Given the description of an element on the screen output the (x, y) to click on. 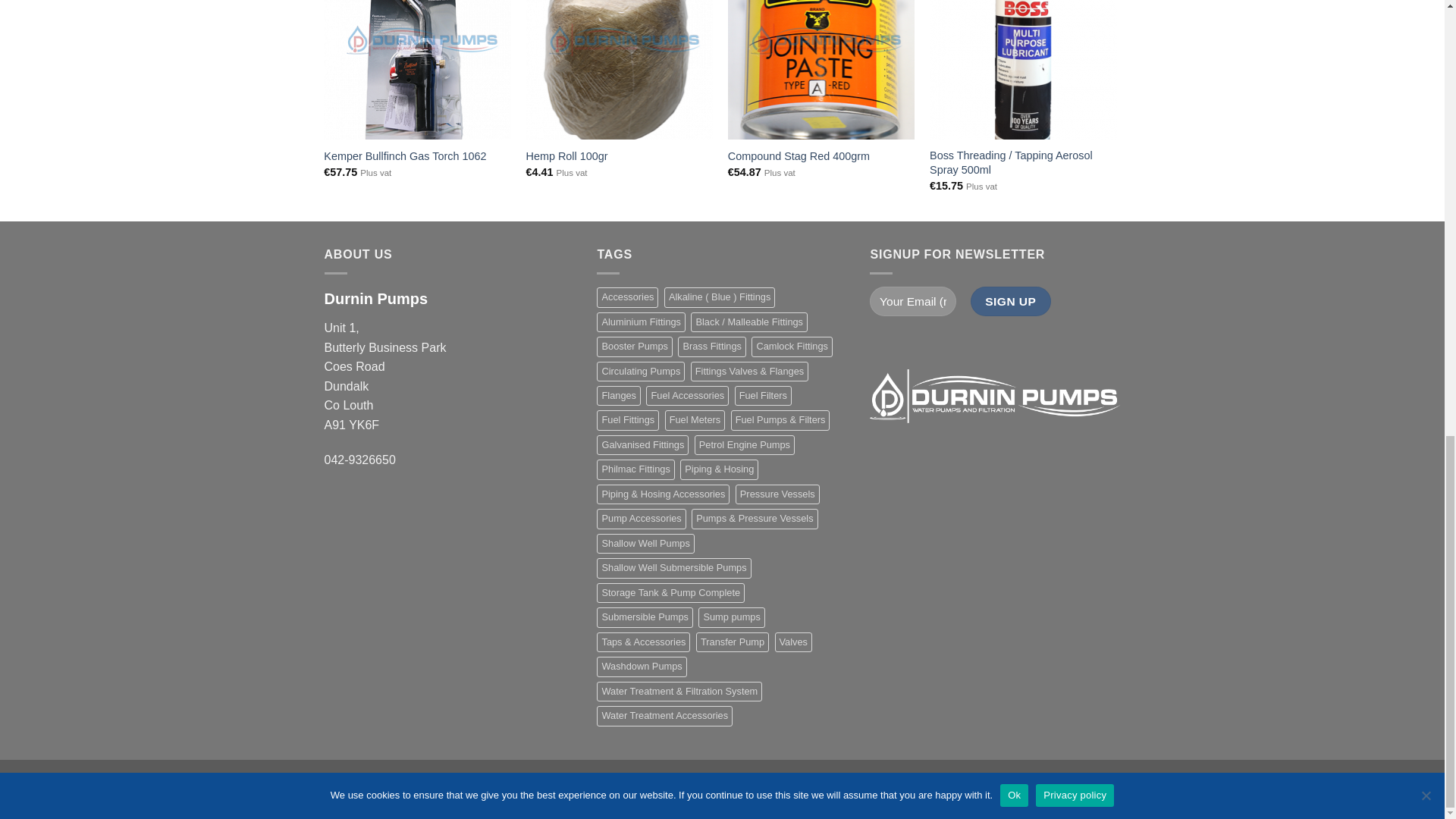
Sign Up (1011, 301)
